Given the description of an element on the screen output the (x, y) to click on. 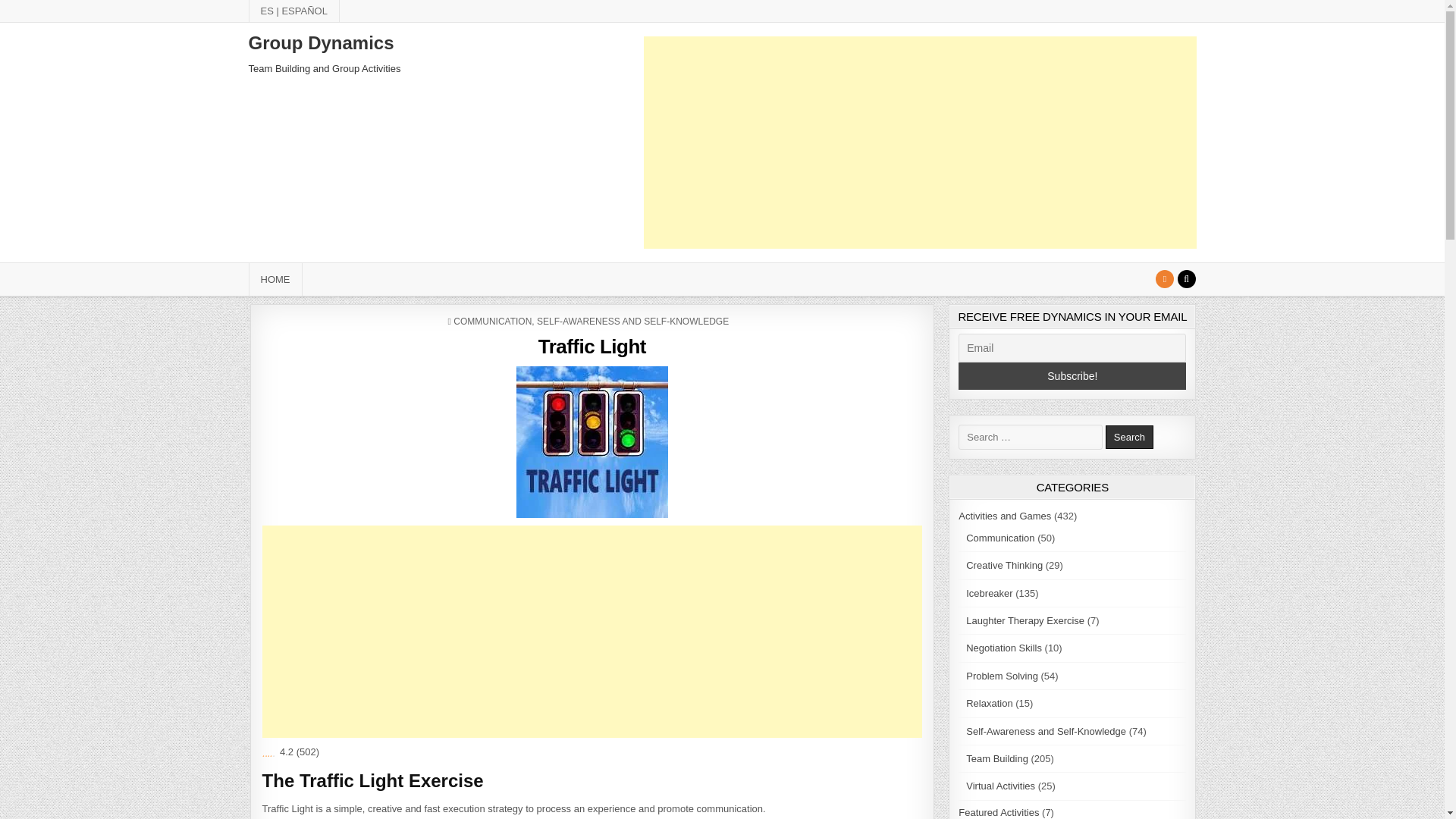
RSS (1164, 279)
Permanent Link to Traffic Light (592, 441)
Icebreaker (988, 593)
Creative Thinking (1004, 564)
COMMUNICATION (491, 321)
Group Dynamics (321, 42)
Search (1185, 279)
Subscribe! (1072, 375)
HOME (275, 278)
SELF-AWARENESS AND SELF-KNOWLEDGE (633, 321)
